Given the description of an element on the screen output the (x, y) to click on. 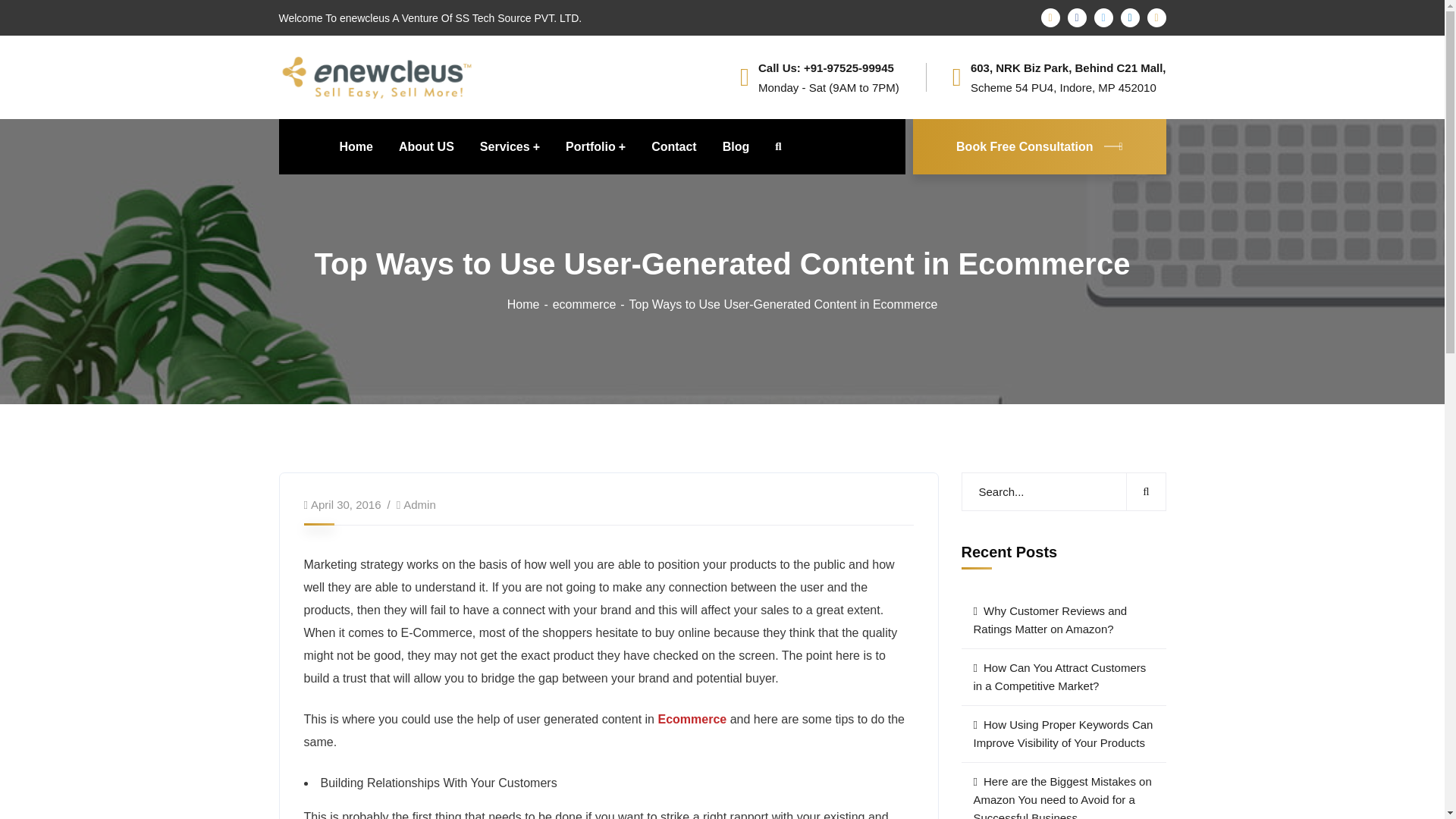
Posts by admin (419, 504)
About US (426, 146)
enewcleus (377, 75)
Services (510, 146)
